Given the description of an element on the screen output the (x, y) to click on. 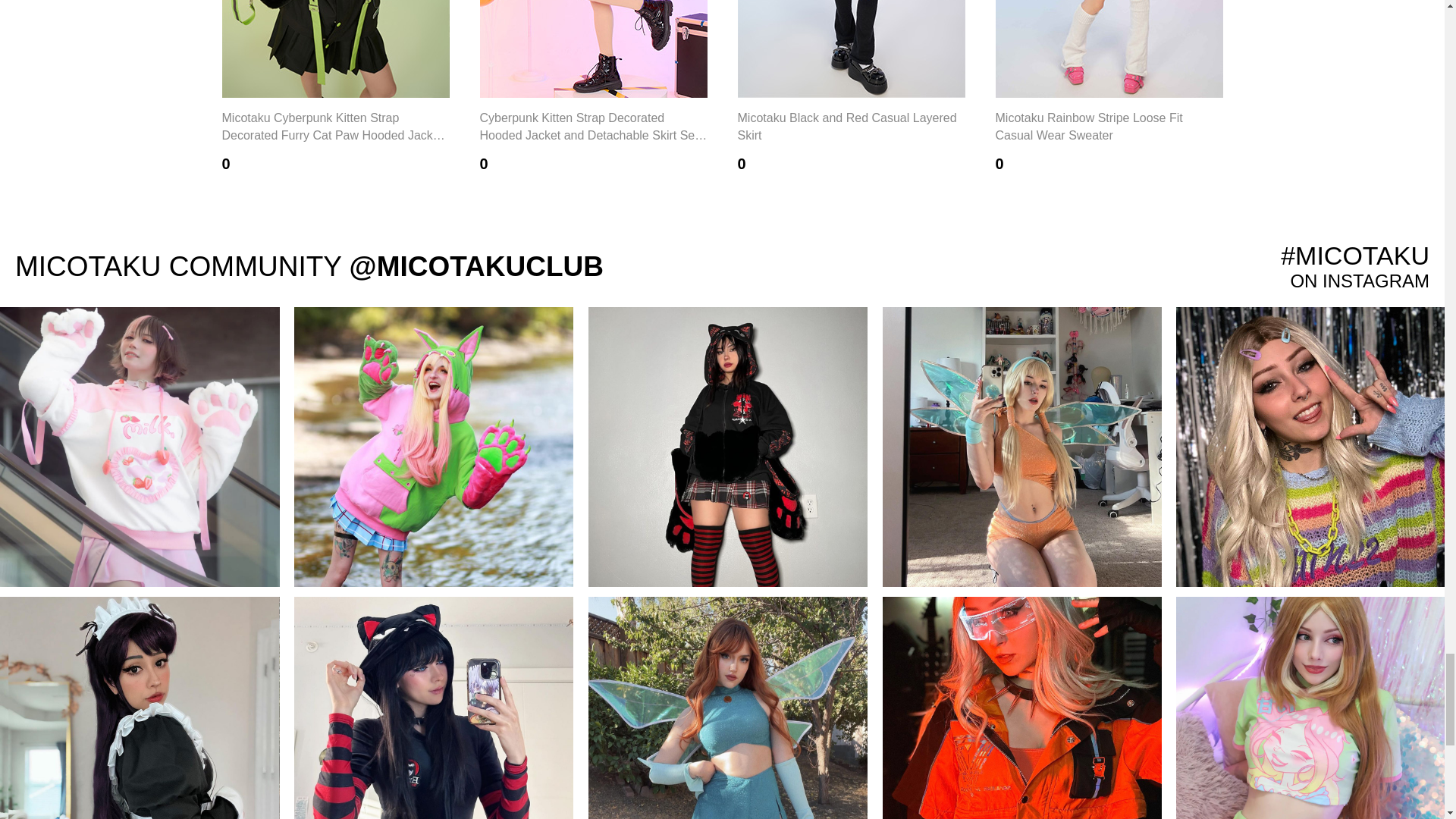
Micotaku Rainbow Stripe Loose Fit Casual Wear Sweater (1108, 48)
Micotaku Black and Red Casual Layered Skirt (849, 48)
